Given the description of an element on the screen output the (x, y) to click on. 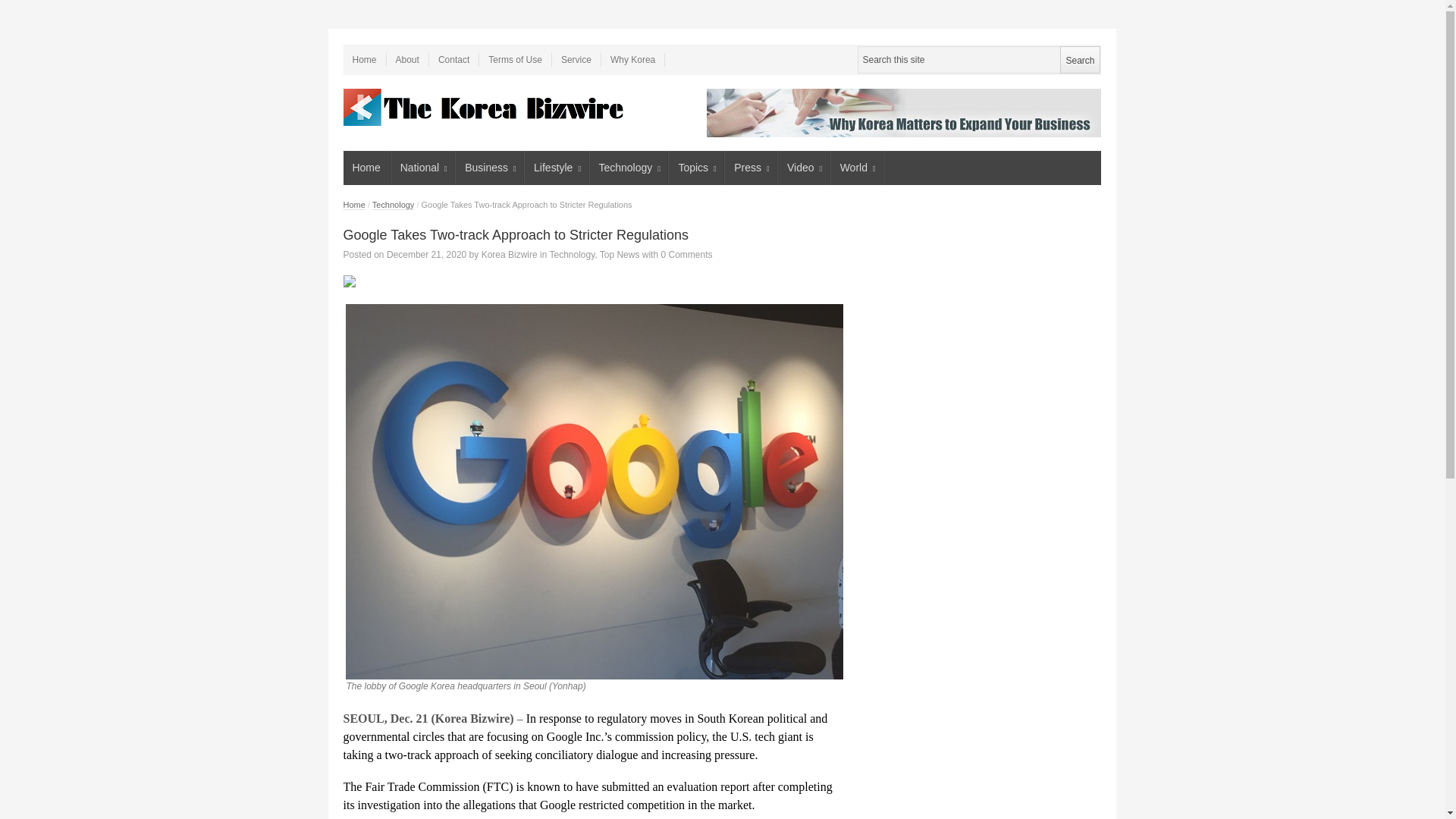
View all posts in Technology (393, 204)
Terms of Use (515, 59)
Service (576, 59)
View all posts in Top News (619, 254)
National (422, 167)
Home (363, 59)
Be Korea-savvy (484, 107)
Print page (592, 281)
View all posts in Technology (571, 254)
